Given the description of an element on the screen output the (x, y) to click on. 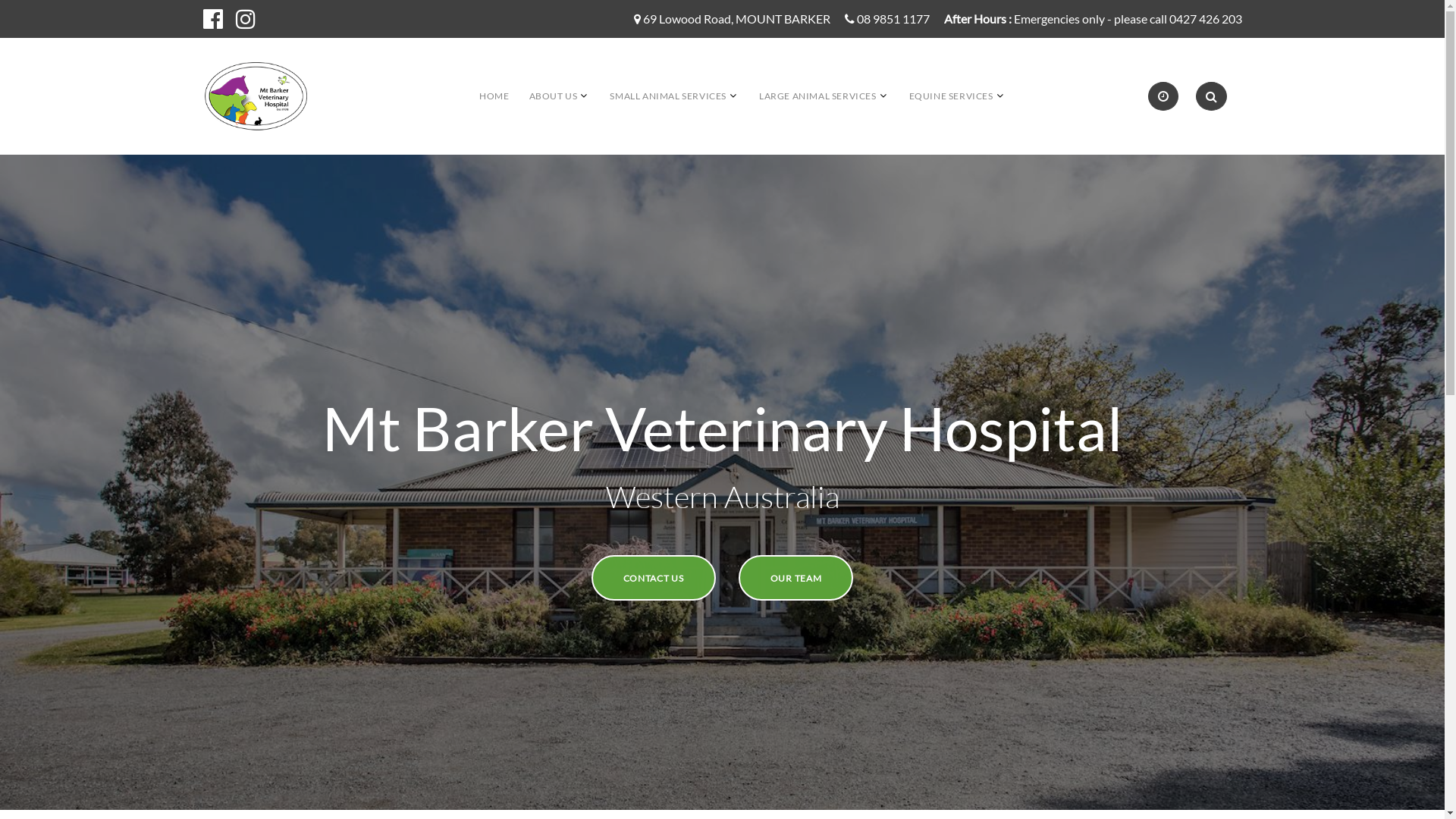
OUR TEAM Element type: text (795, 577)
HOME Element type: text (493, 95)
CONTACT US Element type: text (653, 577)
EQUINE SERVICES Element type: text (951, 95)
LARGE ANIMAL SERVICES Element type: text (817, 95)
08 9851 1177 Element type: text (892, 19)
SMALL ANIMAL SERVICES Element type: text (667, 95)
Emergencies only - please call 0427 426 203 Element type: text (1127, 19)
ABOUT US Element type: text (553, 95)
